Given the description of an element on the screen output the (x, y) to click on. 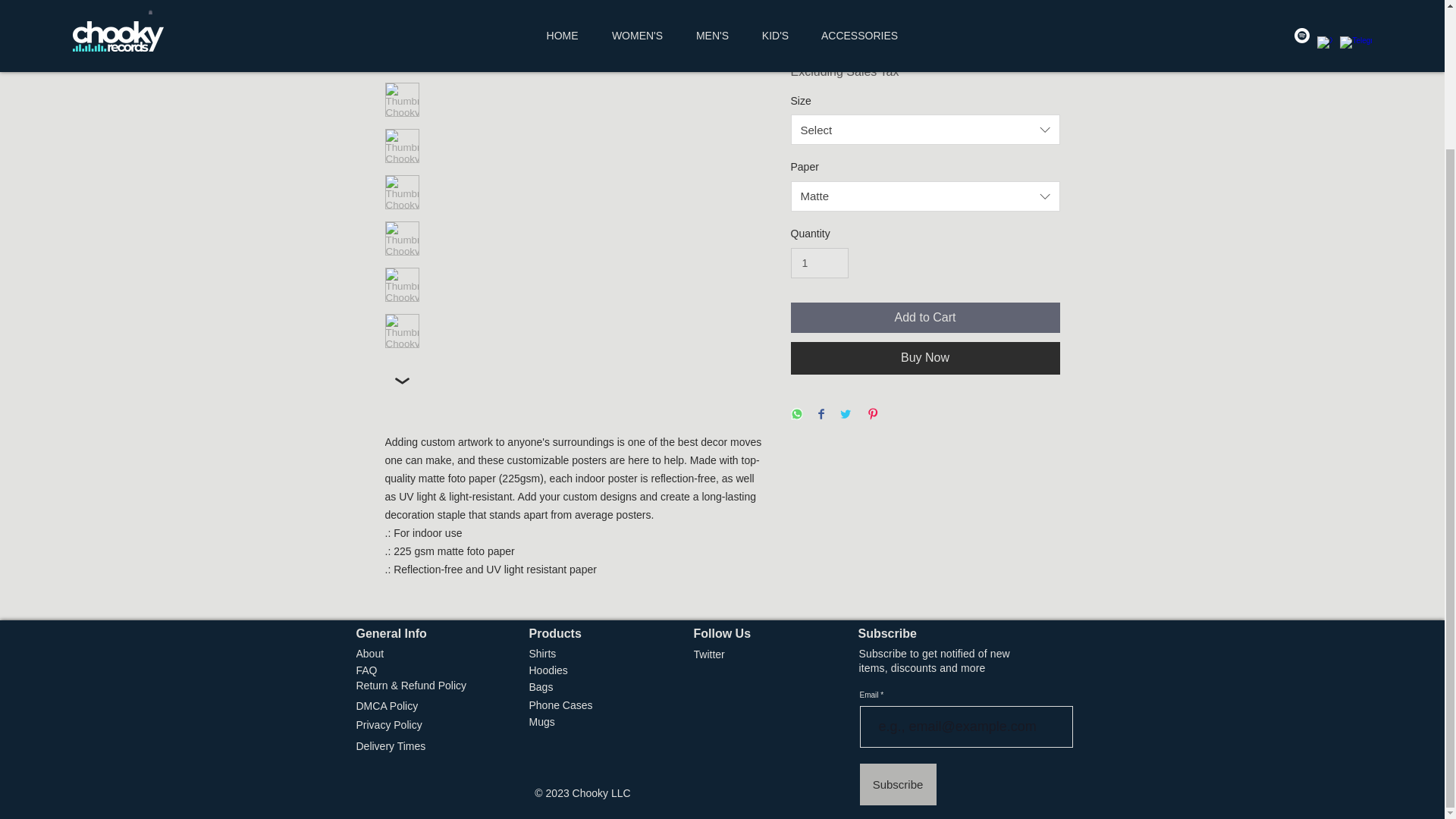
Add to Cart (924, 317)
Select (924, 129)
About (382, 653)
Matte (924, 195)
Buy Now (924, 357)
1 (818, 263)
